Given the description of an element on the screen output the (x, y) to click on. 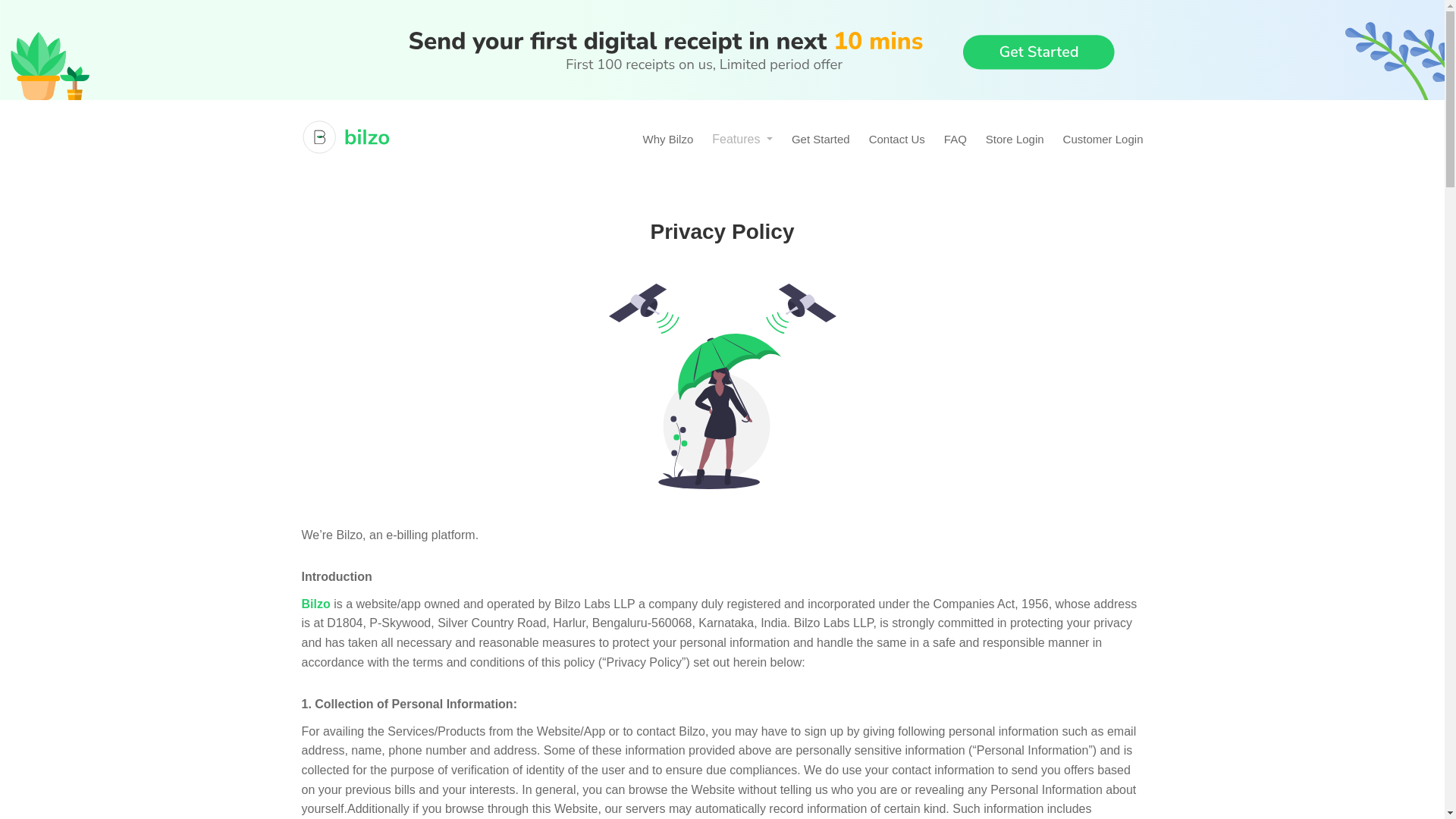
Features (742, 139)
Contact Us (896, 139)
FAQ (954, 139)
Why Bilzo (668, 139)
Customer Login (1102, 139)
Get Started (821, 139)
Store Login (1014, 139)
